Given the description of an element on the screen output the (x, y) to click on. 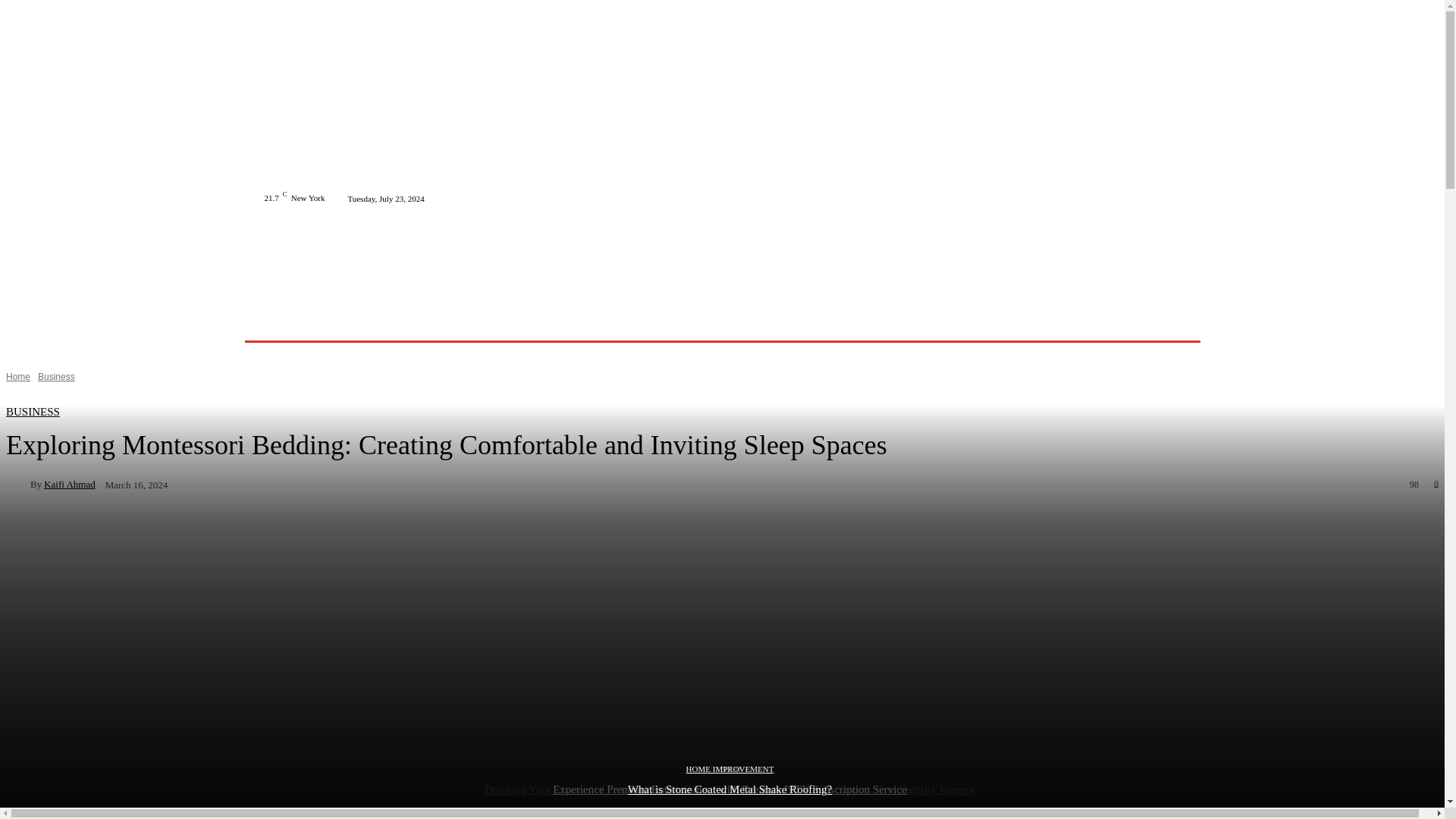
Fashion (448, 321)
Home (307, 321)
View all posts in Business (56, 376)
Tech (348, 321)
Contact Us (796, 321)
Kaifi Ahmad (17, 483)
Digital Marketing (623, 321)
Business (395, 321)
Home Improvement (525, 321)
